Given the description of an element on the screen output the (x, y) to click on. 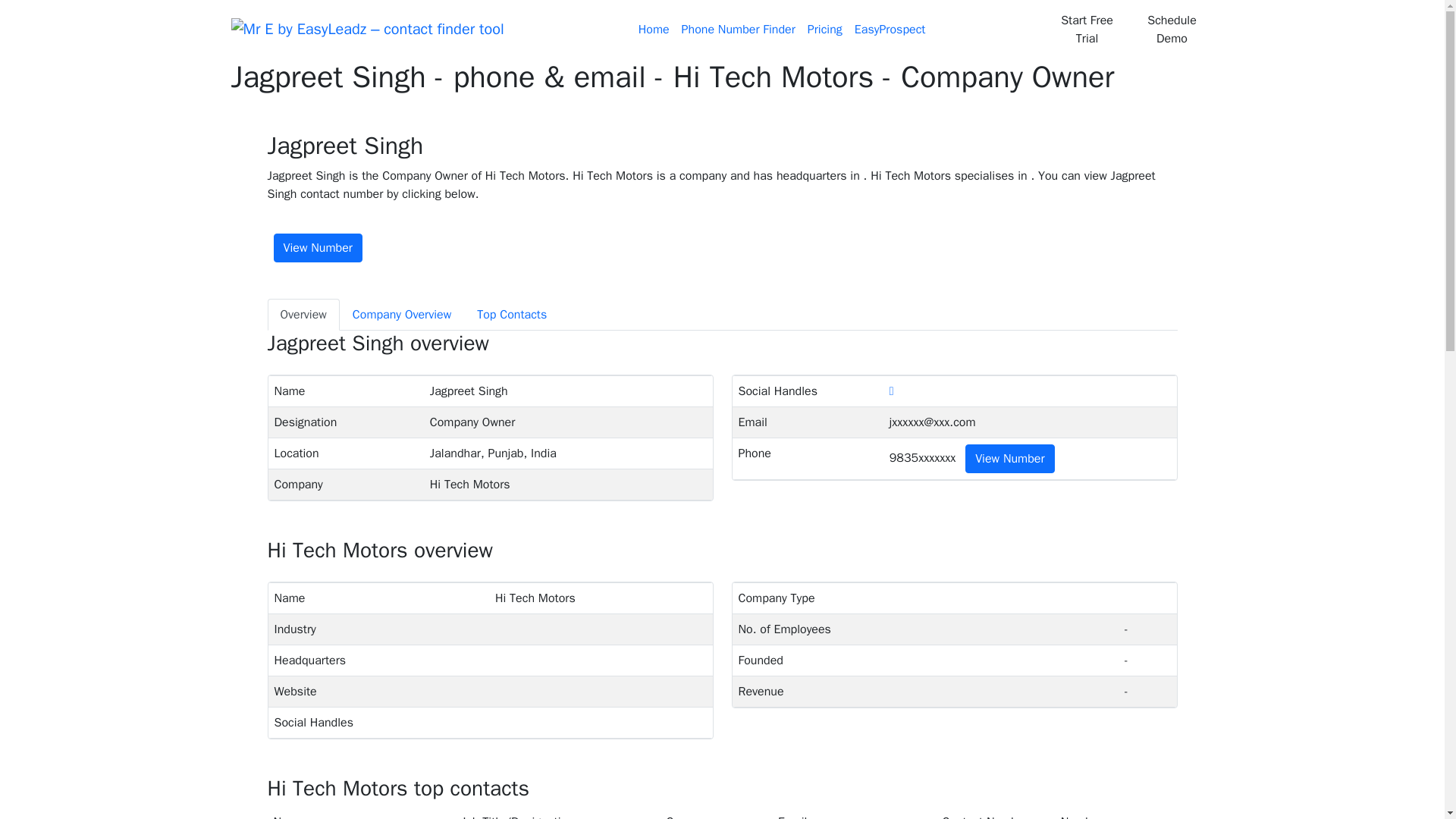
View Number (1009, 458)
View Number (317, 247)
Schedule Demo (1172, 29)
EasyProspect (889, 29)
Phone Number Finder (738, 29)
EasyProspect (889, 29)
Phone Number Finder (738, 29)
Home (653, 29)
Pricing (825, 29)
Overview (302, 314)
